Given the description of an element on the screen output the (x, y) to click on. 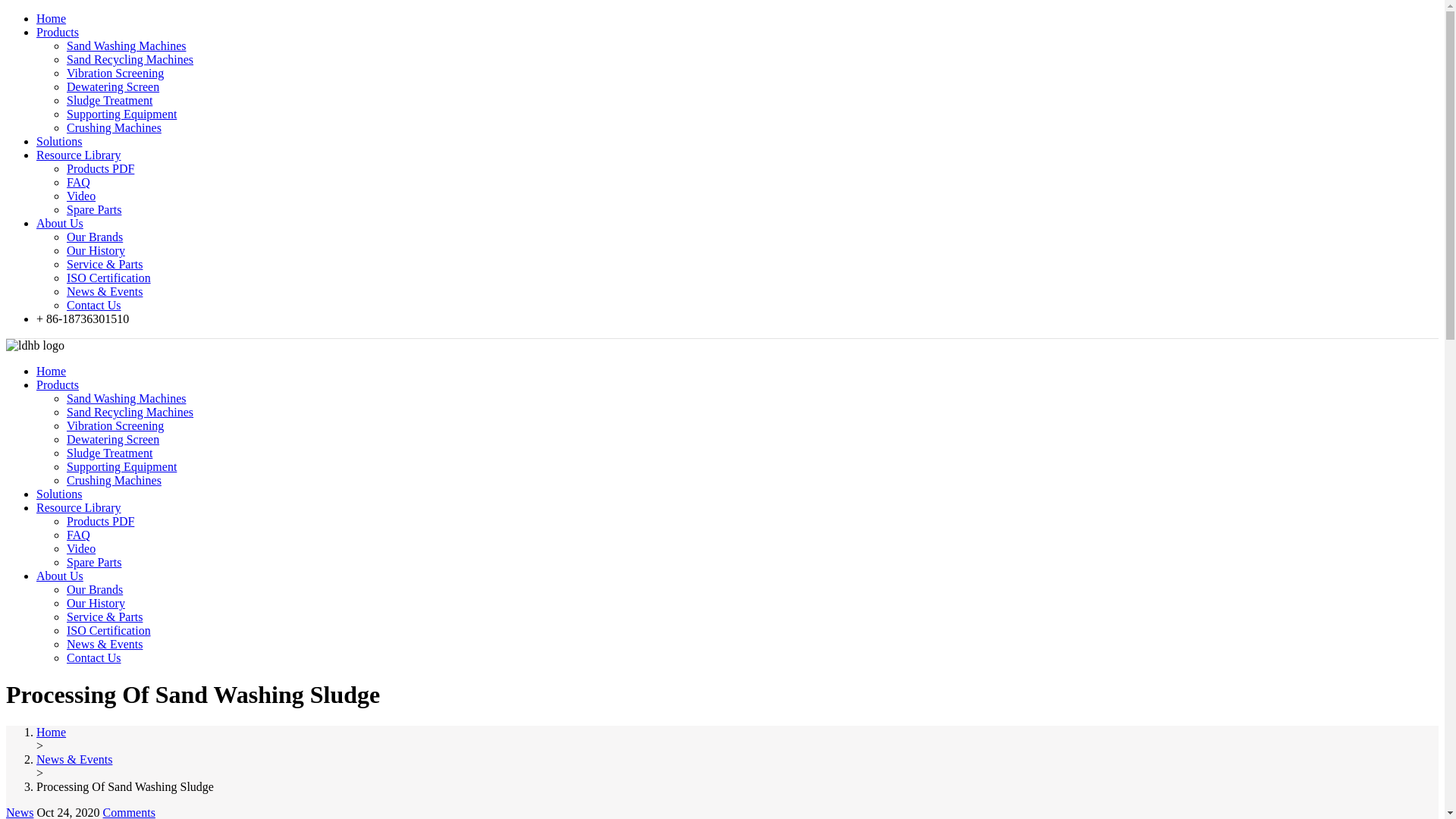
Resource Library (78, 507)
Video (81, 195)
Solutions (58, 493)
Supporting Equipment (121, 113)
Home (50, 370)
Supporting Equipment (121, 466)
Sand Recycling Machines (129, 59)
Sand Washing Machines (126, 398)
Products PDF (99, 521)
Sludge Treatment (109, 100)
